Given the description of an element on the screen output the (x, y) to click on. 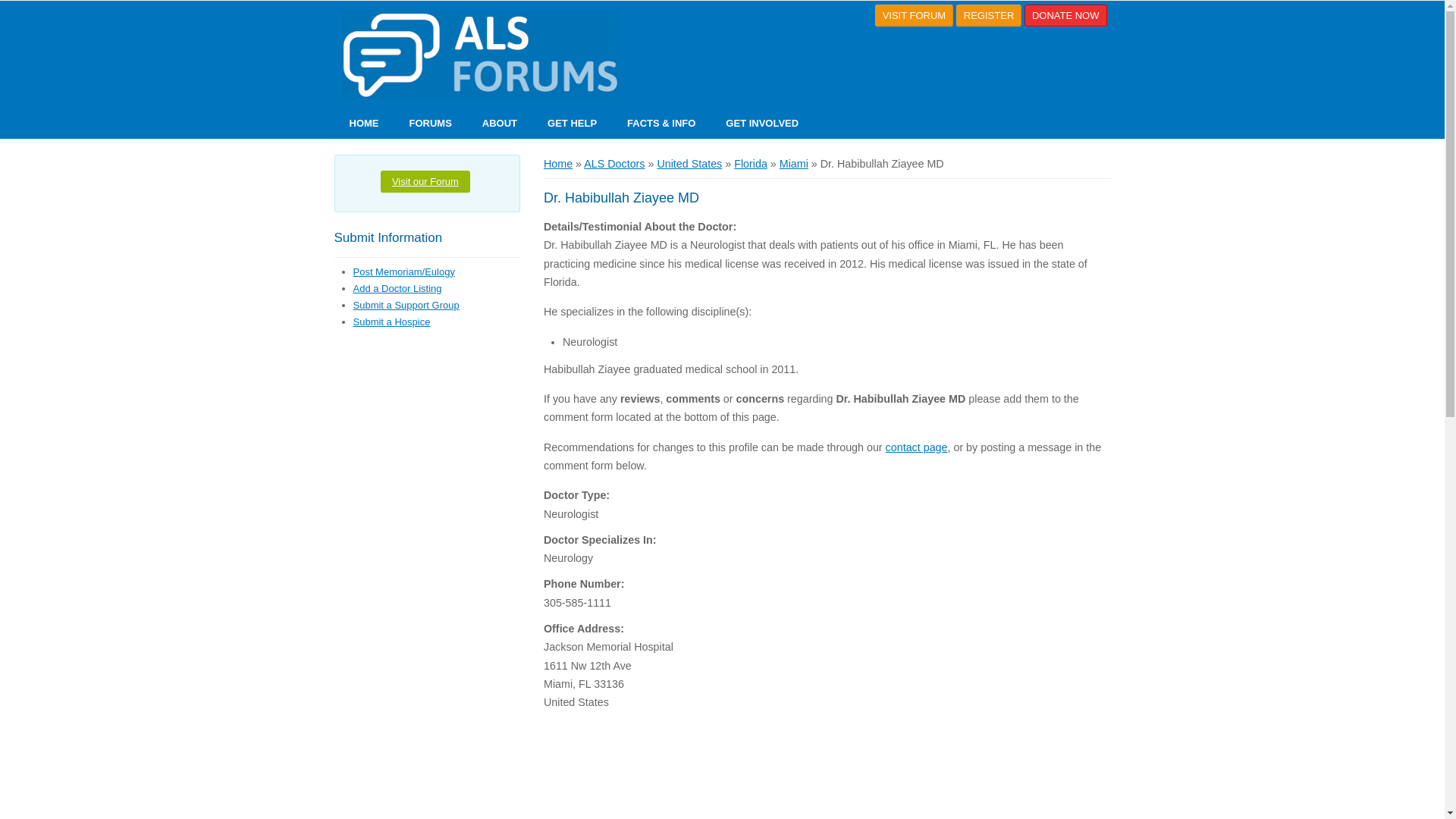
Visit our ALS and MND support community (430, 122)
United States (689, 163)
Submit a Hospice (391, 321)
GET HELP (571, 122)
ALS Doctors (614, 163)
Home (557, 163)
ALS doctors in United States (689, 163)
GET INVOLVED (761, 122)
contact page (916, 447)
FORUMS (430, 122)
